Given the description of an element on the screen output the (x, y) to click on. 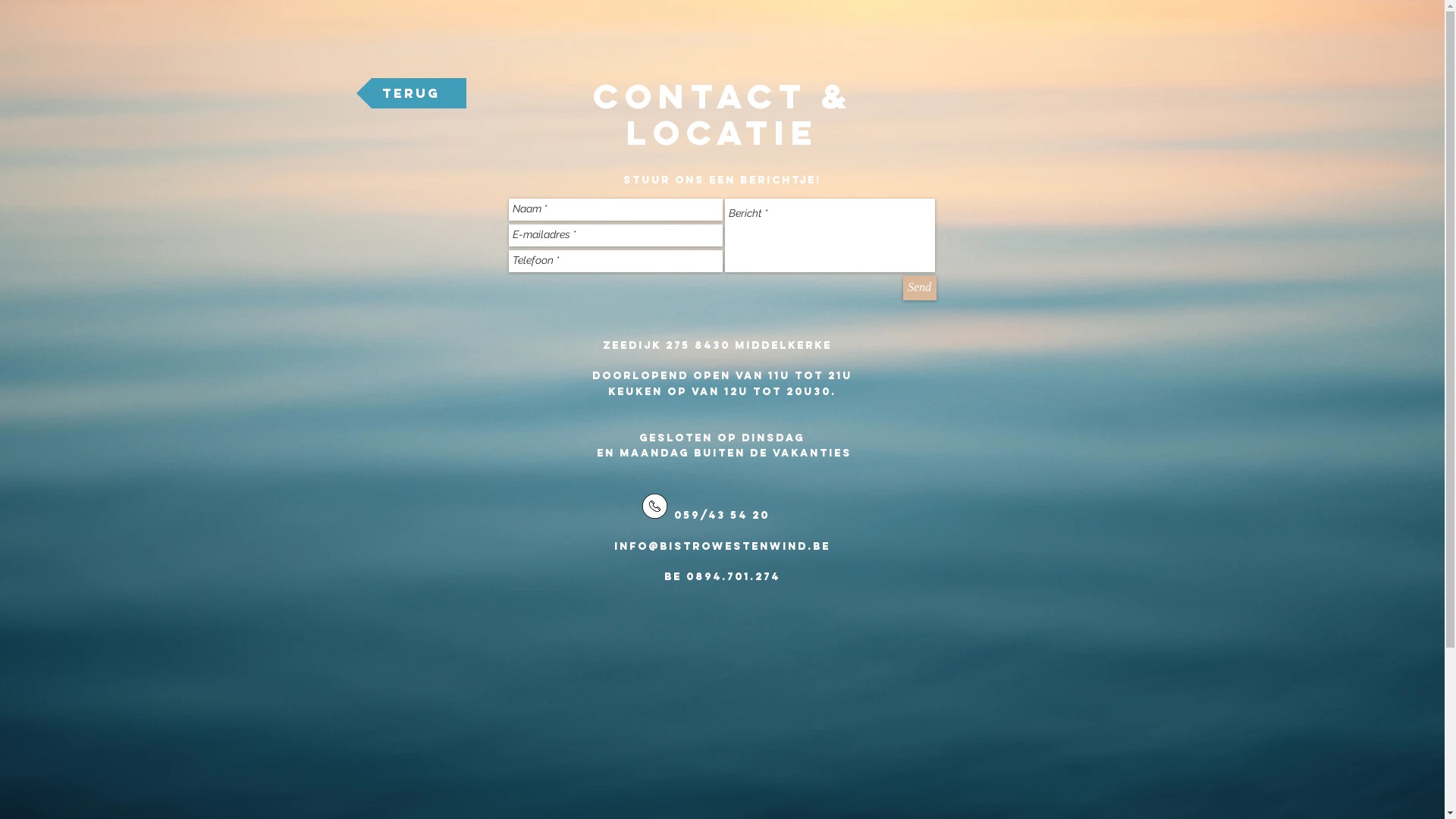
Send Element type: text (918, 288)
terug Element type: text (411, 93)
Info@bistrowestenwind.be Element type: text (722, 545)
